Given the description of an element on the screen output the (x, y) to click on. 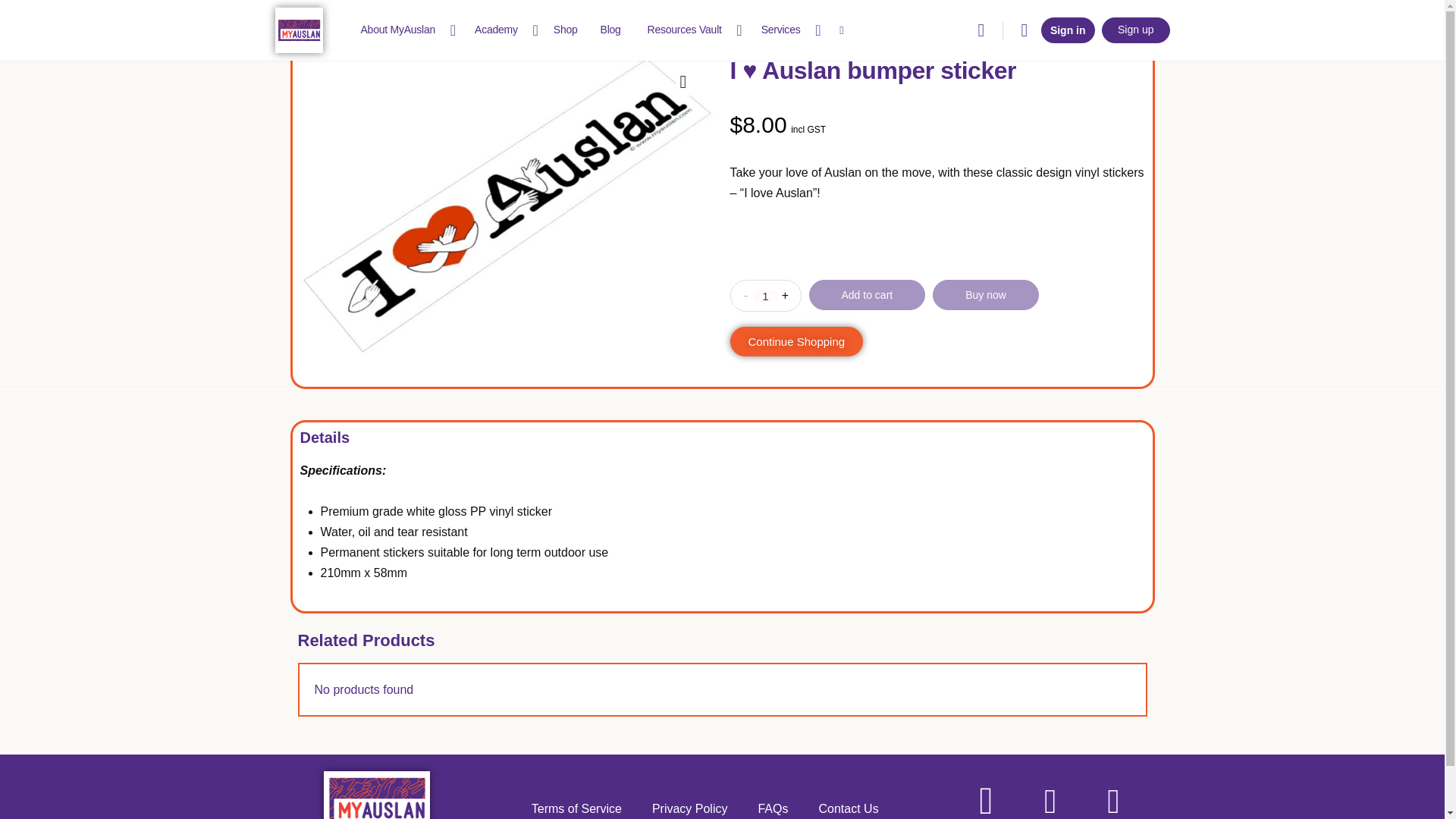
1 (765, 295)
Qty (765, 295)
Resources Vault (691, 30)
Sign in (1067, 30)
Academy (502, 30)
About MyAuslan (405, 30)
Sign up (1135, 30)
Services (787, 30)
ILA bumper sticker new (506, 205)
